Given the description of an element on the screen output the (x, y) to click on. 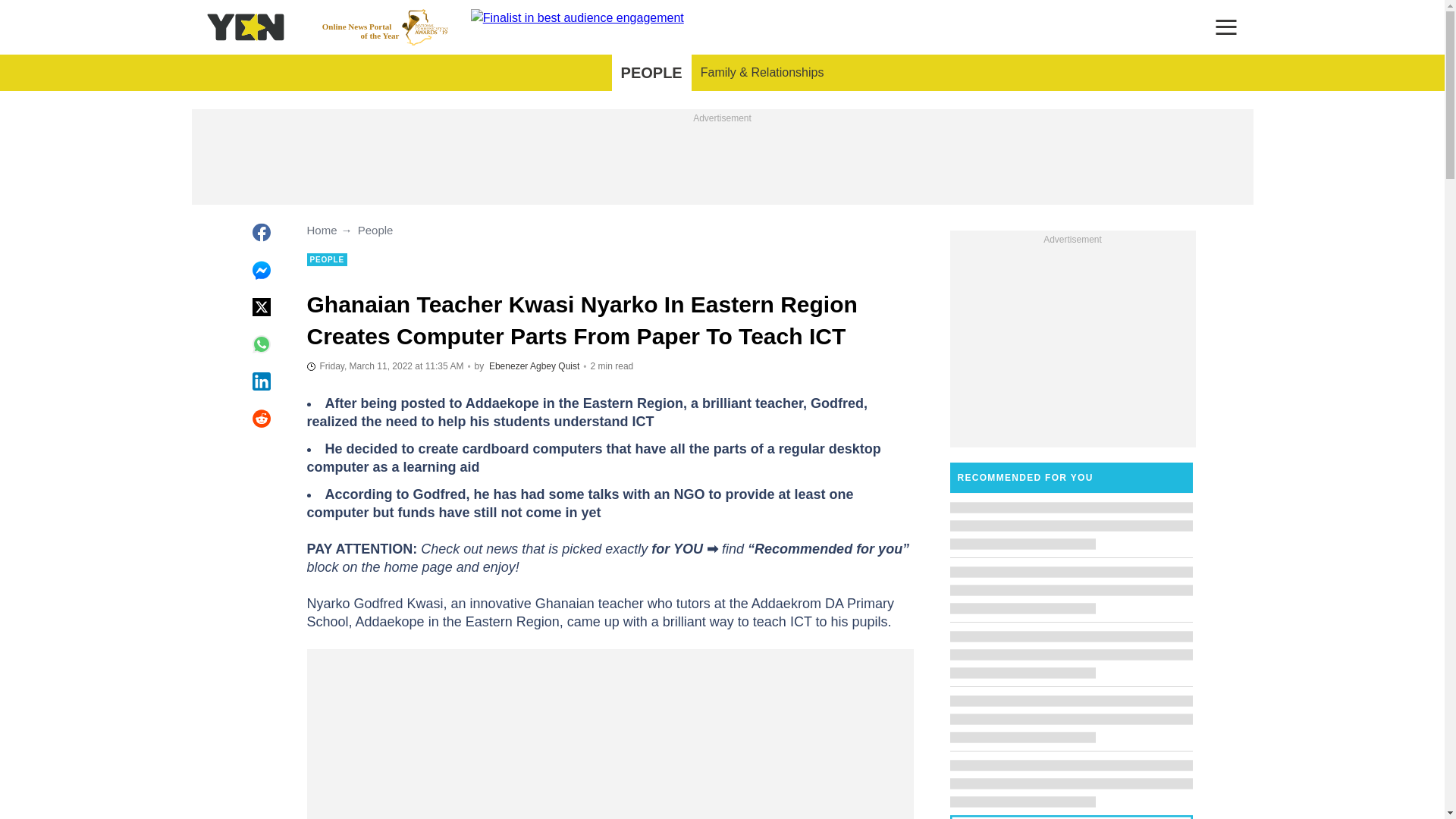
PEOPLE (651, 72)
Author page (534, 366)
2022-03-11T11:35:13Z (384, 27)
